Given the description of an element on the screen output the (x, y) to click on. 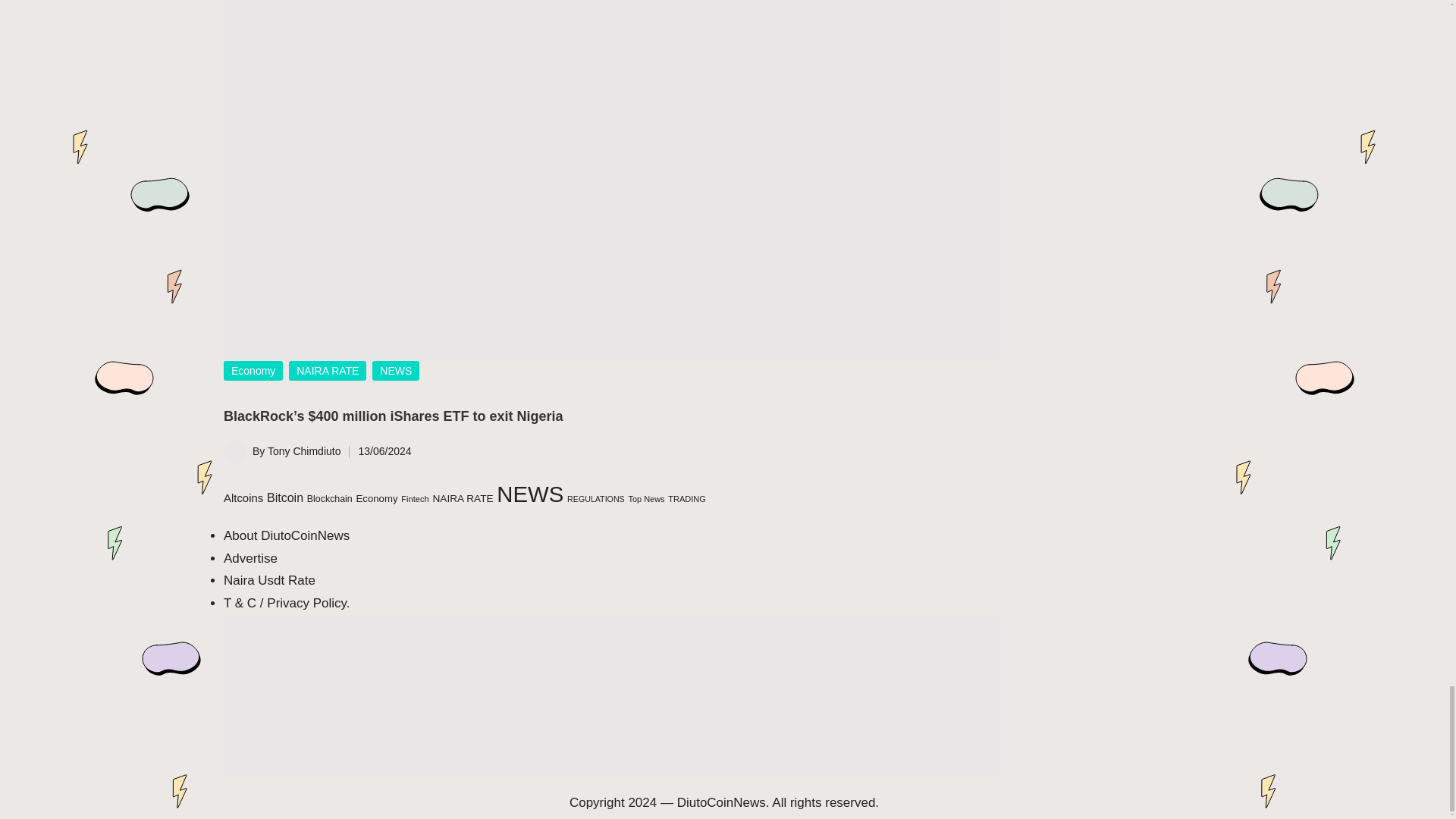
View all posts by Tony Chimdiuto (303, 451)
